Given the description of an element on the screen output the (x, y) to click on. 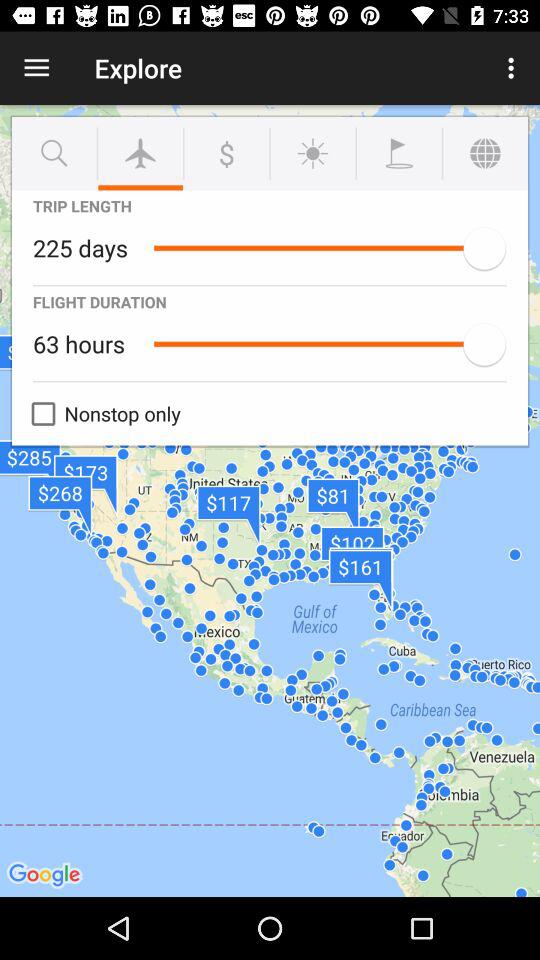
tap the icon next to the explore item (513, 67)
